Given the description of an element on the screen output the (x, y) to click on. 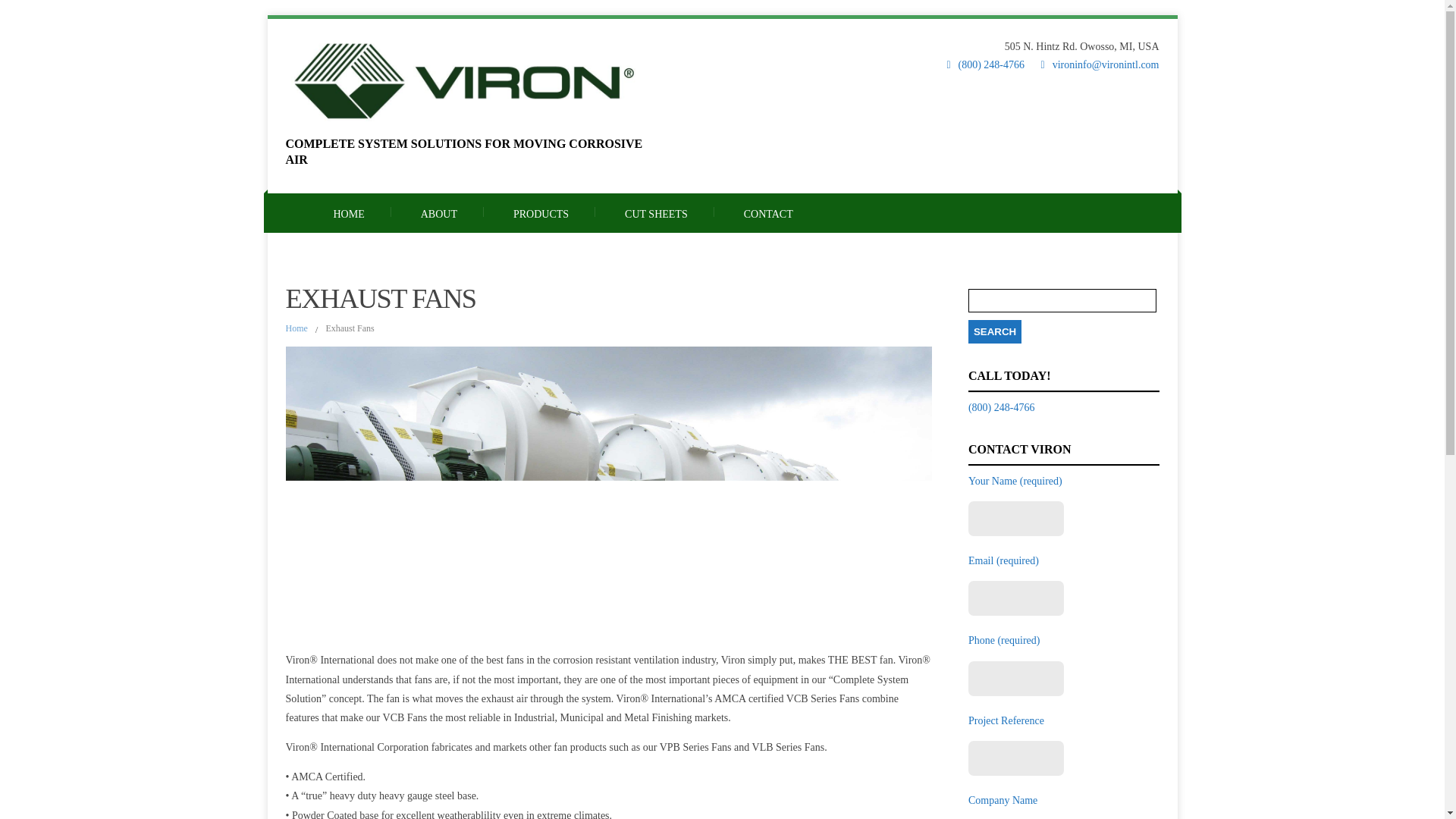
CUT SHEETS (656, 212)
ABOUT (438, 212)
PRODUCTS (540, 212)
Search (995, 331)
Search (995, 331)
HOME (347, 212)
CONTACT (768, 212)
Home (296, 327)
